Given the description of an element on the screen output the (x, y) to click on. 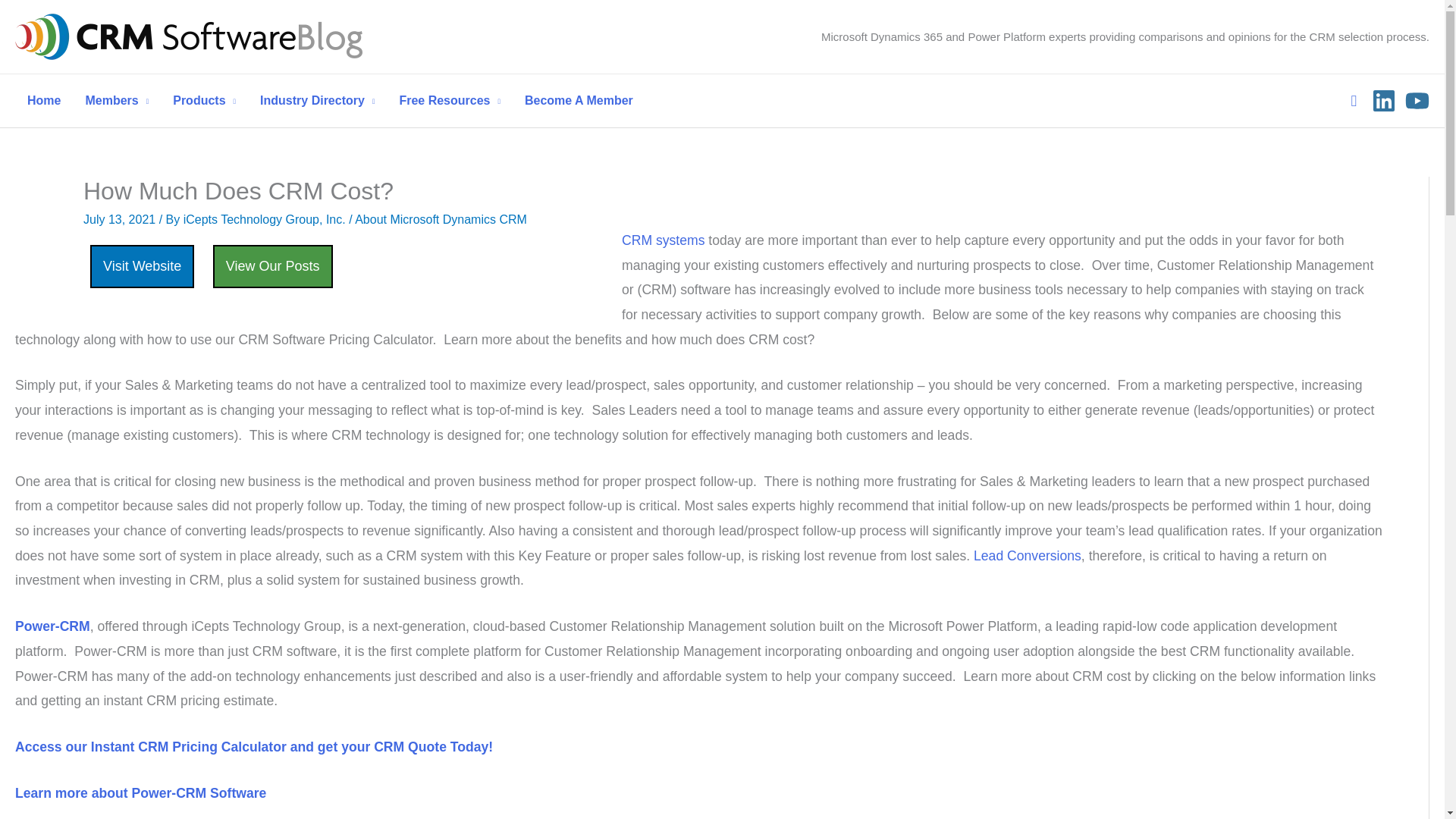
Products (203, 100)
Home (43, 100)
View all posts by iCepts Technology Group, Inc. (266, 219)
Industry Directory (317, 100)
Members (116, 100)
